Given the description of an element on the screen output the (x, y) to click on. 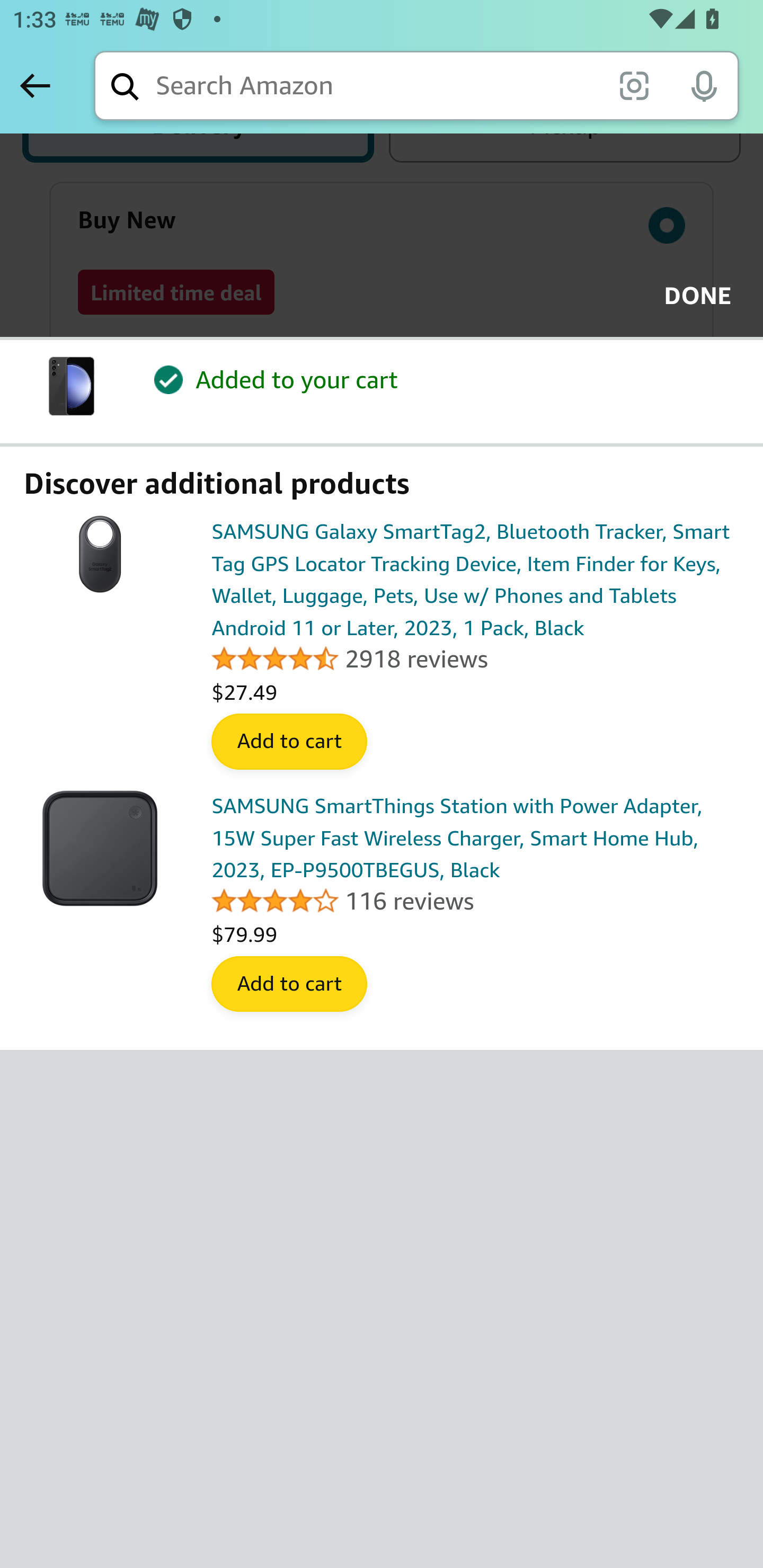
Back (35, 85)
scan it (633, 85)
DONE (691, 295)
Add to cart (289, 742)
Add to cart (289, 983)
